Given the description of an element on the screen output the (x, y) to click on. 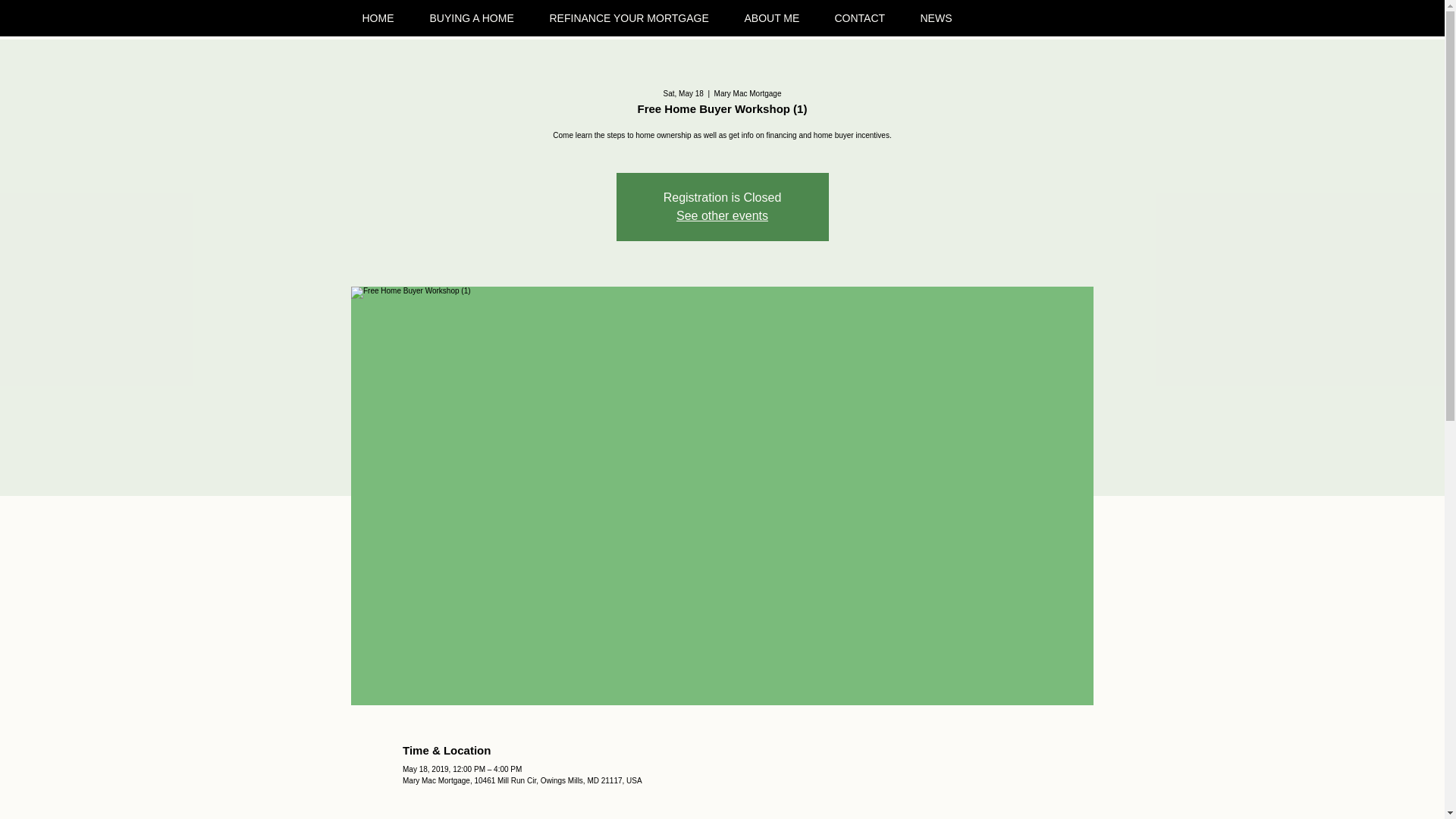
See other events (722, 215)
BUYING A HOME (478, 18)
NEWS (941, 18)
REFINANCE YOUR MORTGAGE (635, 18)
CONTACT (866, 18)
ABOUT ME (777, 18)
HOME (383, 18)
